Given the description of an element on the screen output the (x, y) to click on. 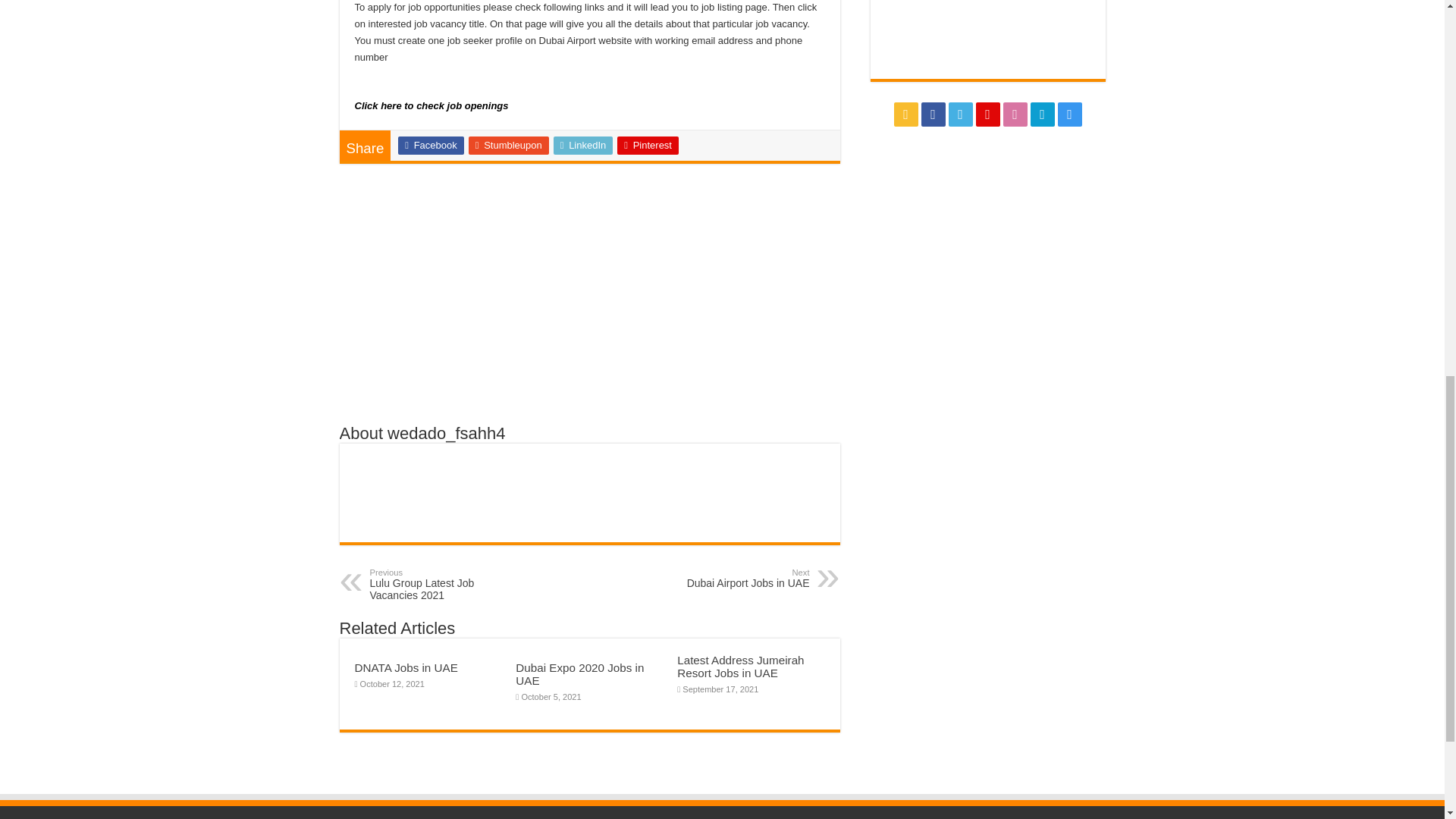
LinkedIn (731, 578)
Facebook (582, 145)
Pinterest (430, 145)
DNATA Jobs in UAE (447, 584)
Click here to check job openings (647, 145)
Stumbleupon (406, 667)
